Given the description of an element on the screen output the (x, y) to click on. 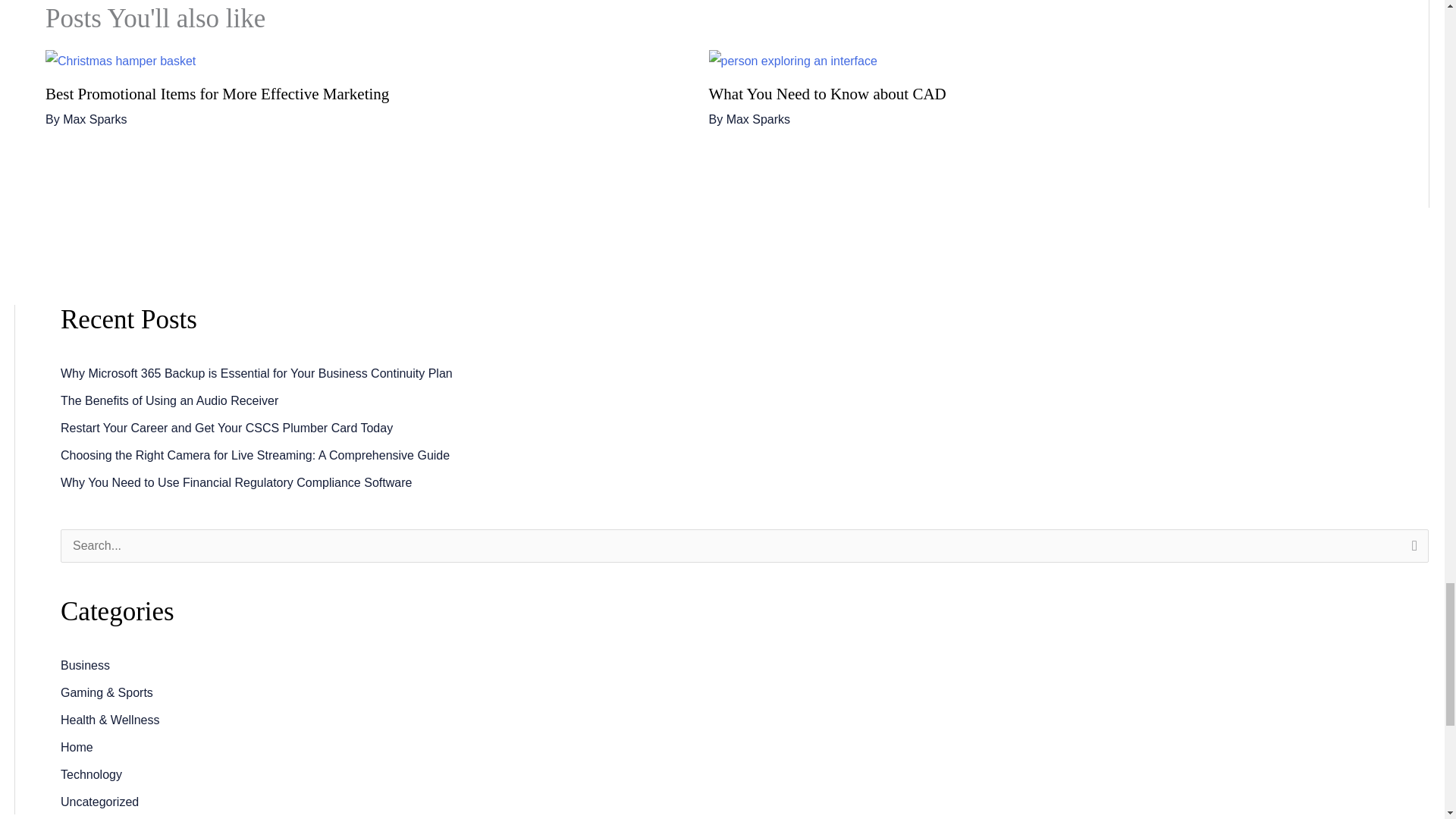
Best Promotional Items for More Effective Marketing (216, 94)
View all posts by Max Sparks (758, 119)
View all posts by Max Sparks (94, 119)
The Benefits of Using an Audio Receiver (169, 400)
Restart Your Career and Get Your CSCS Plumber Card Today (227, 427)
Max Sparks (94, 119)
What You Need to Know about CAD (825, 94)
Why You Need to Use Financial Regulatory Compliance Software (236, 481)
Max Sparks (758, 119)
